Given the description of an element on the screen output the (x, y) to click on. 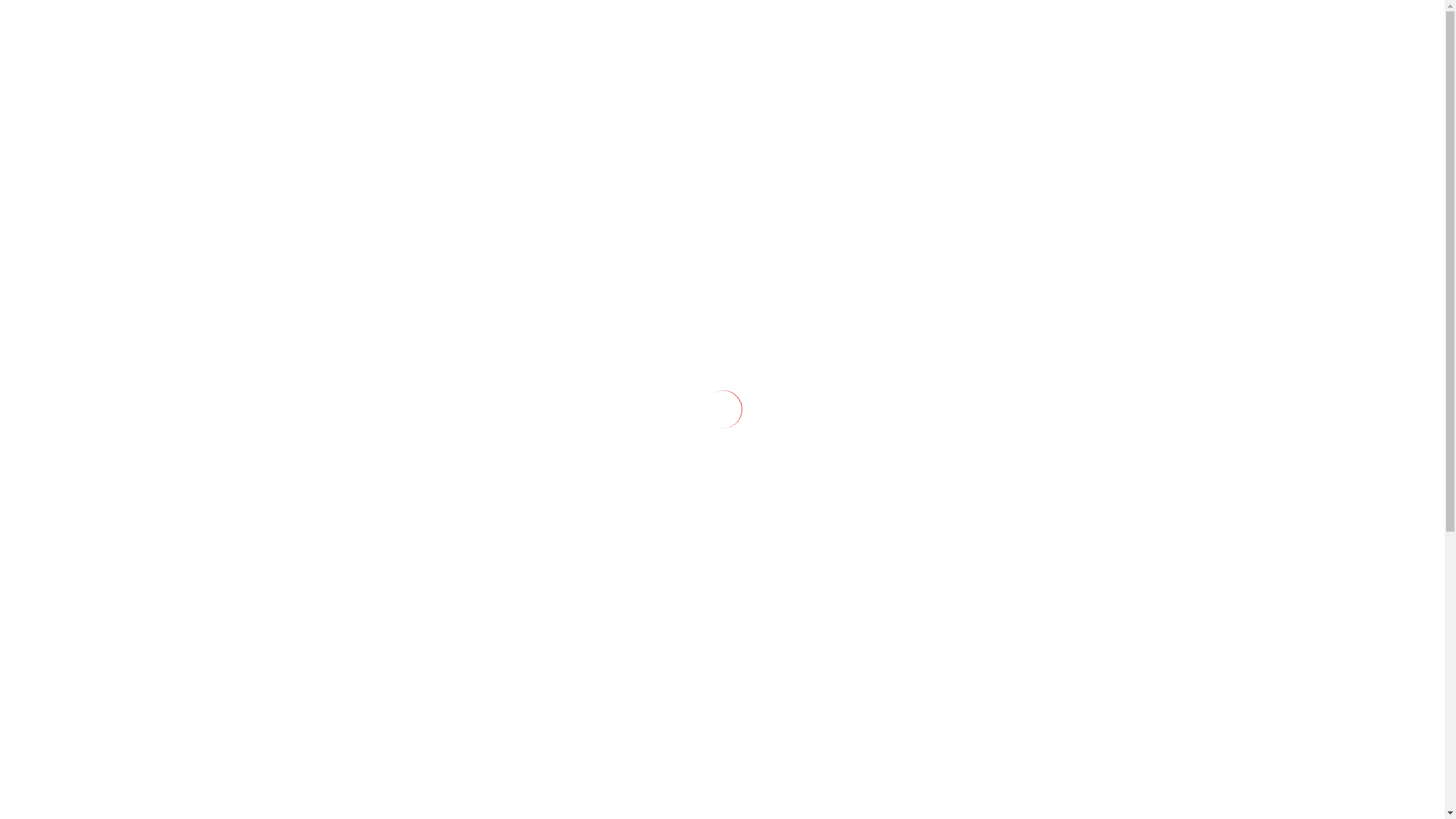
INTERSECTIONALITY Element type: text (947, 22)
CONTACT US Element type: text (1178, 22)
COVID-19 Element type: text (745, 68)
HARMONY VOTES Element type: text (607, 68)
MEMBERSHIP Element type: text (450, 22)
SUBSCRIBE TO OUR NEWSLETTER Element type: text (1218, 68)
ABOUT Element type: text (331, 22)
PUBLICATIONS Element type: text (590, 22)
HARMONY EMPOWERS Element type: text (760, 22)
Back to Harmony Empowers Element type: text (359, 752)
